Given the description of an element on the screen output the (x, y) to click on. 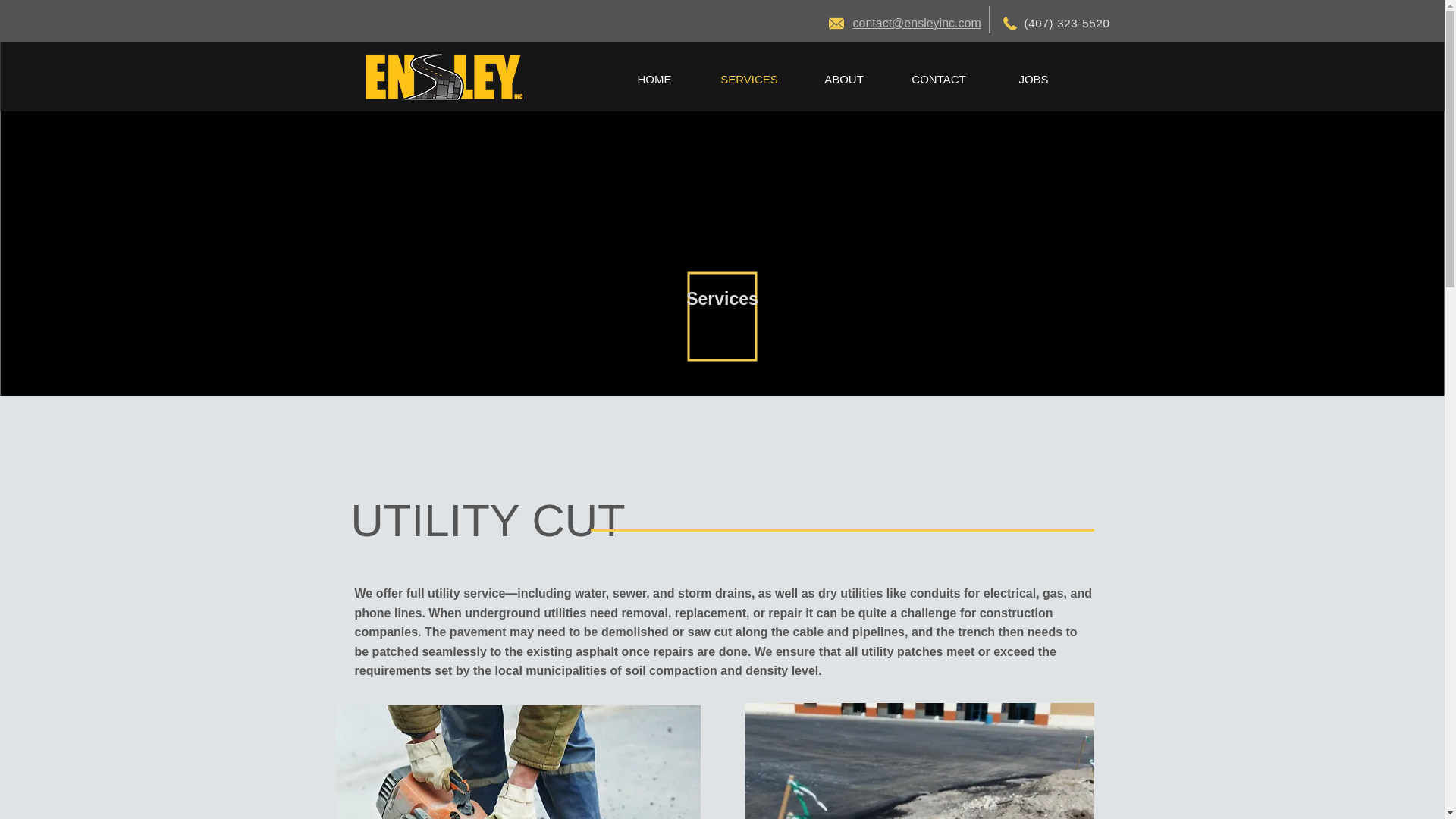
ABOUT (843, 78)
JOBS (1032, 78)
SERVICES (748, 78)
HOME (654, 78)
CONTACT (939, 78)
